Given the description of an element on the screen output the (x, y) to click on. 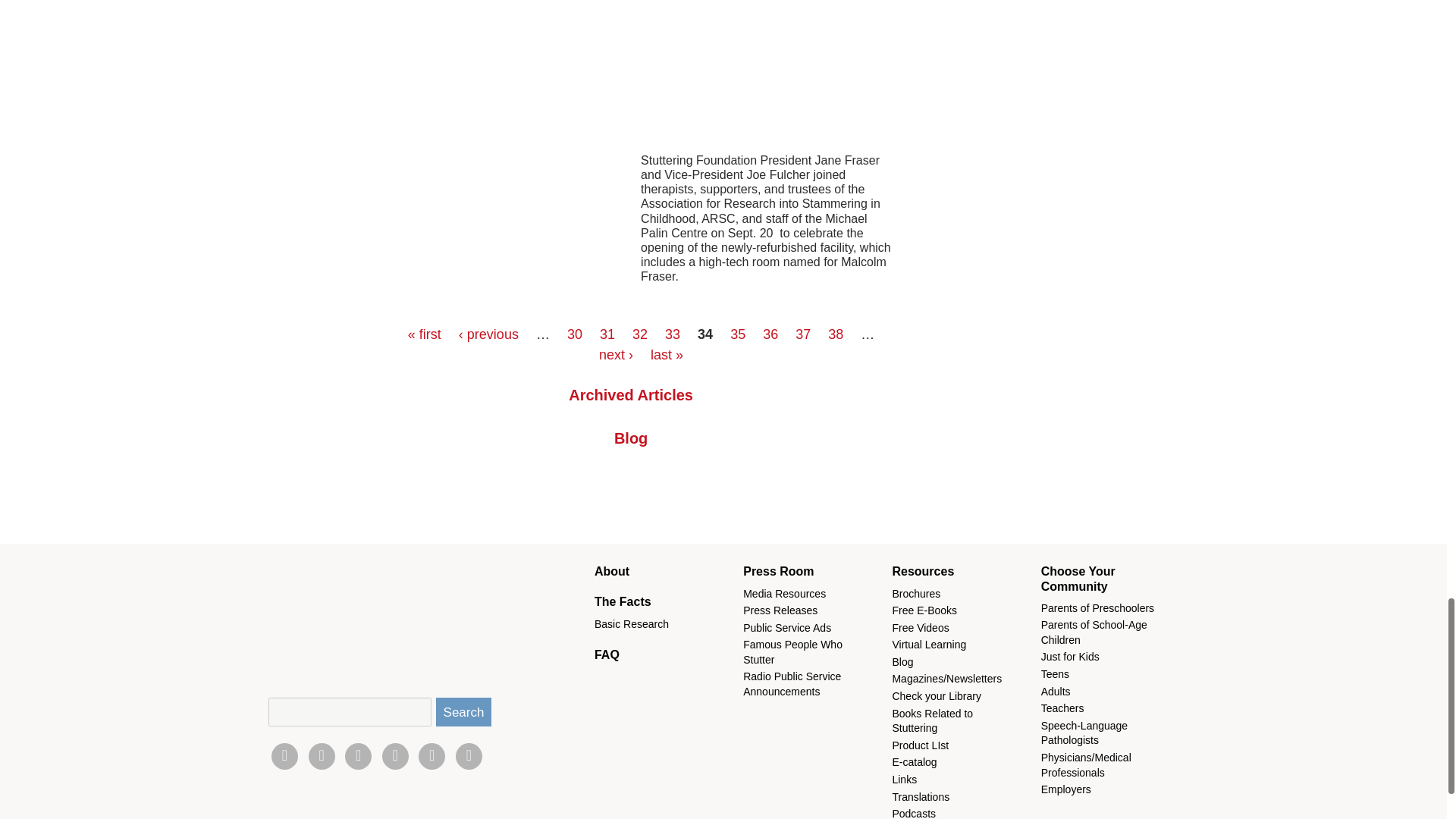
Go to previous page (488, 334)
Search (463, 711)
Go to first page (424, 334)
